Given the description of an element on the screen output the (x, y) to click on. 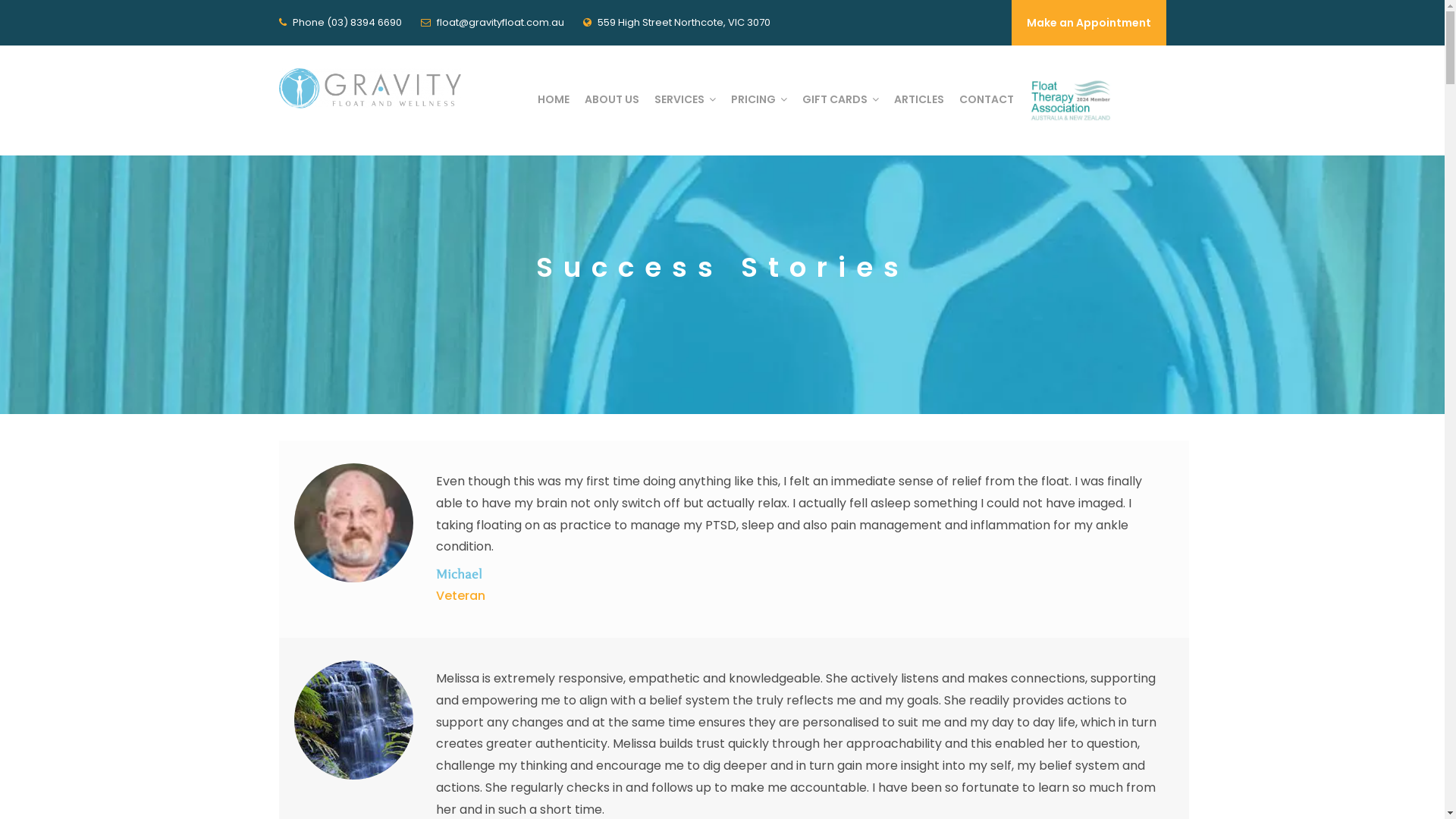
Make an Appointment Element type: text (1088, 22)
SERVICES Element type: text (684, 99)
ARTICLES Element type: text (918, 99)
HOME Element type: text (552, 99)
CONTACT Element type: text (985, 99)
GIFT CARDS Element type: text (840, 99)
PRICING Element type: text (759, 99)
ABOUT US Element type: text (610, 99)
